Given the description of an element on the screen output the (x, y) to click on. 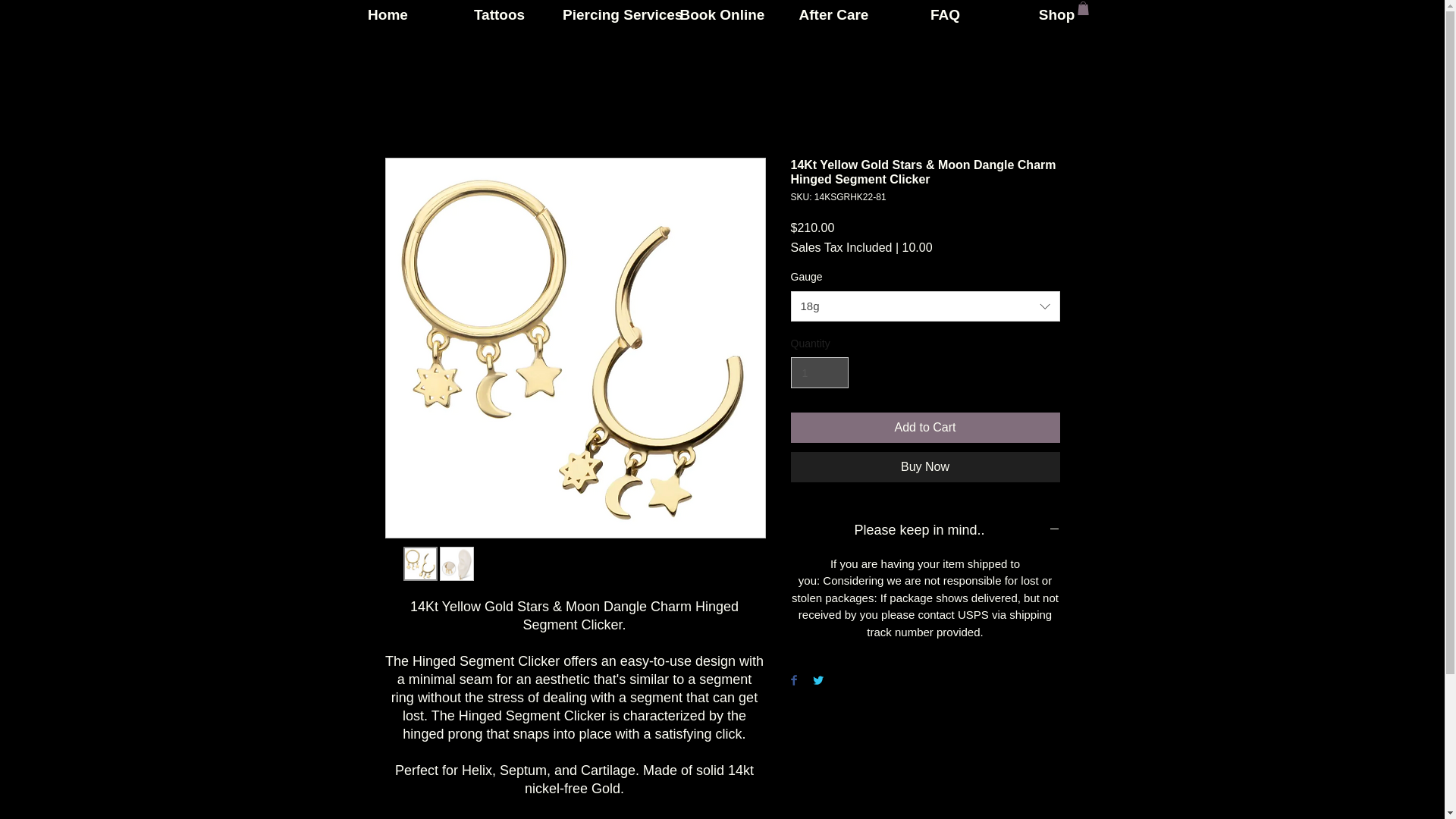
Buy Now (924, 467)
Add to Cart (924, 427)
Home (387, 14)
Shop (1056, 14)
After Care (833, 14)
Forms (1050, 21)
Book Online (721, 14)
18g (924, 306)
1 (818, 372)
Please keep in mind.. (924, 530)
